Given the description of an element on the screen output the (x, y) to click on. 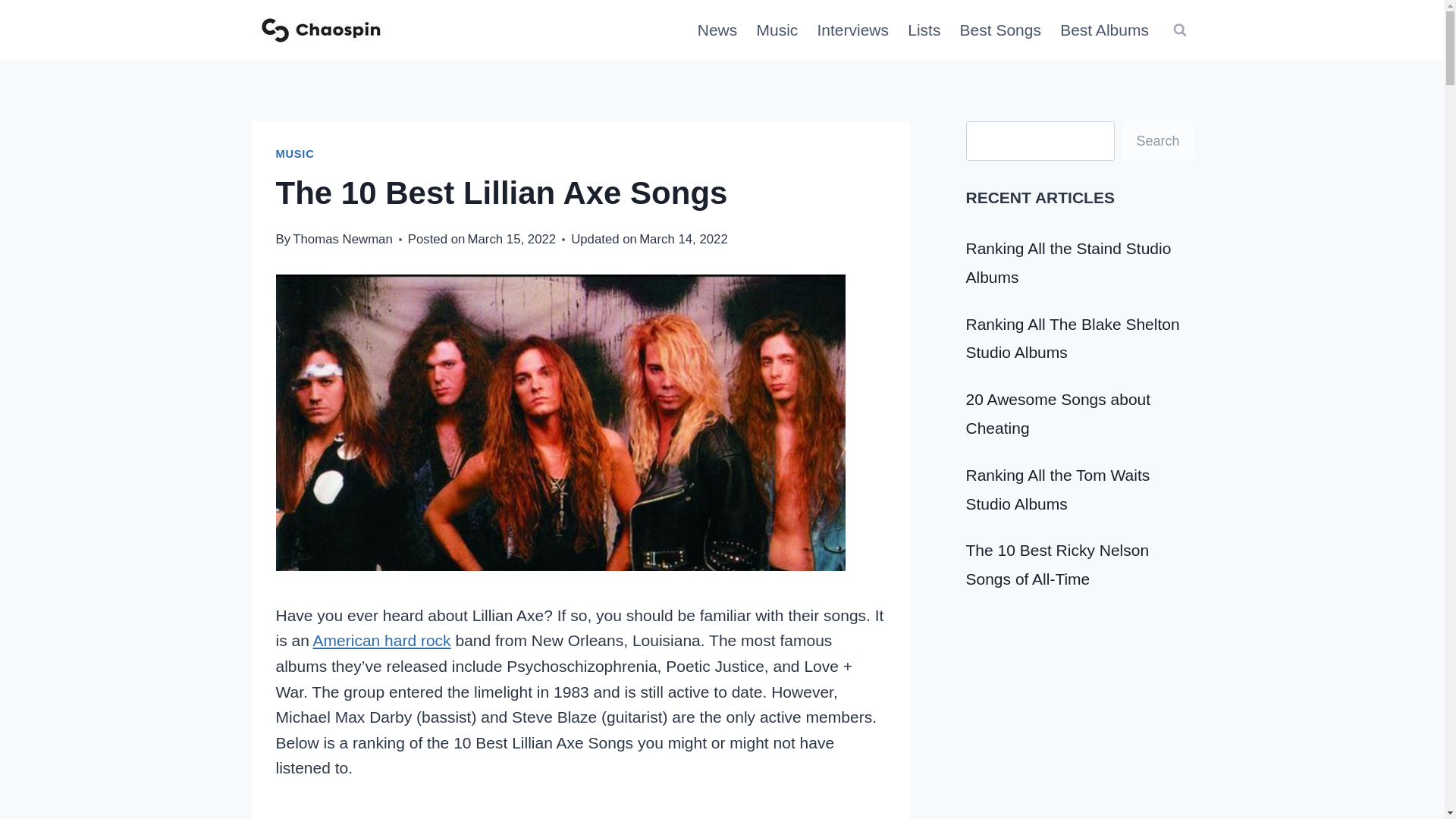
American hard rock (382, 640)
Interviews (853, 30)
Best Albums (1104, 30)
Best Songs (1000, 30)
MUSIC (295, 153)
Thomas Newman (342, 238)
News (716, 30)
Music (777, 30)
Lists (924, 30)
